Given the description of an element on the screen output the (x, y) to click on. 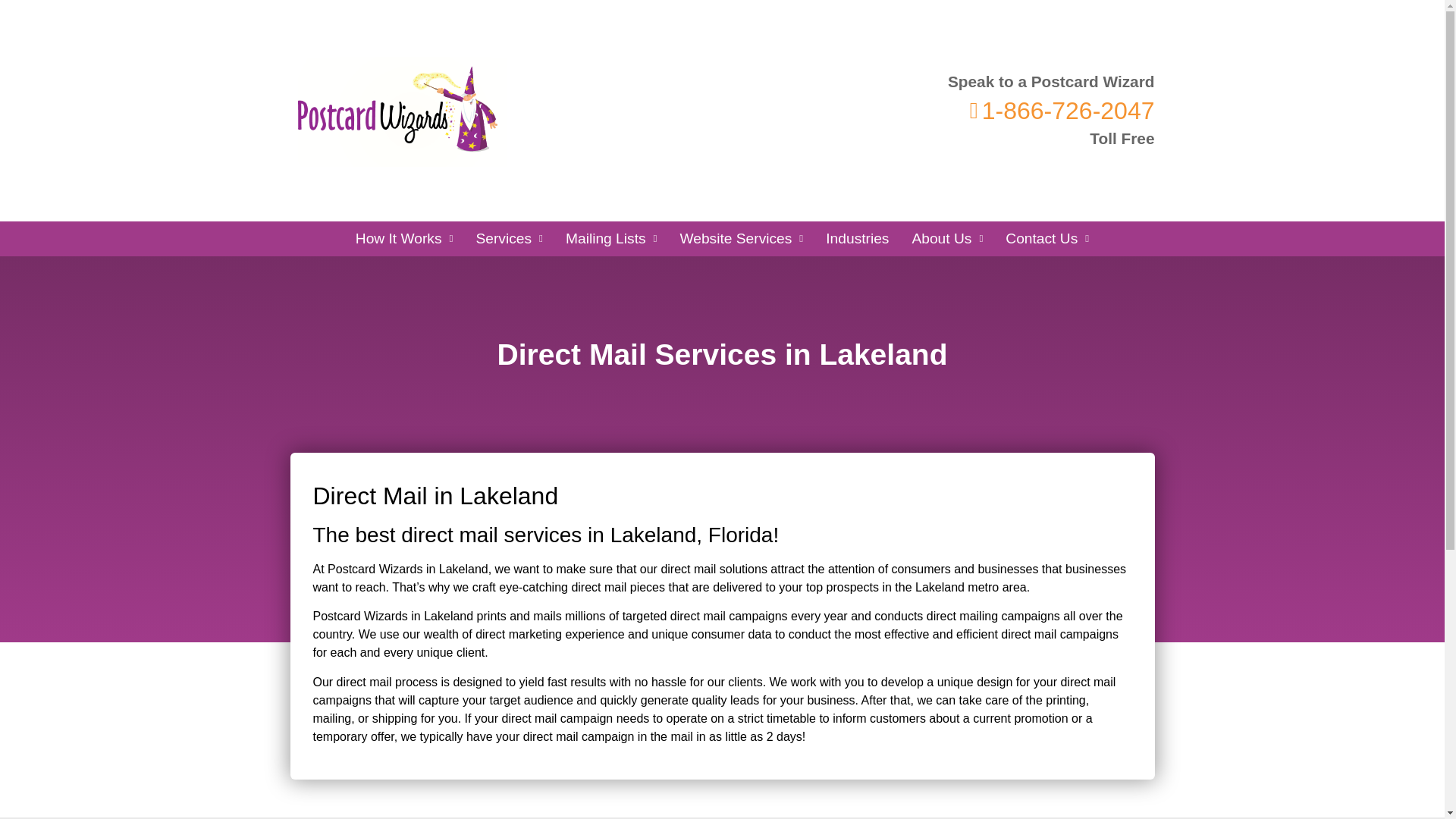
About Us (946, 238)
Postcard Wizards, Postcard, Omaha, NE (787, 211)
1-866-726-2047 (1051, 110)
Contact Us (1047, 238)
How It Works (403, 238)
Website Services (740, 238)
Industries (856, 238)
Mailing Lists (611, 238)
Services (509, 238)
